Given the description of an element on the screen output the (x, y) to click on. 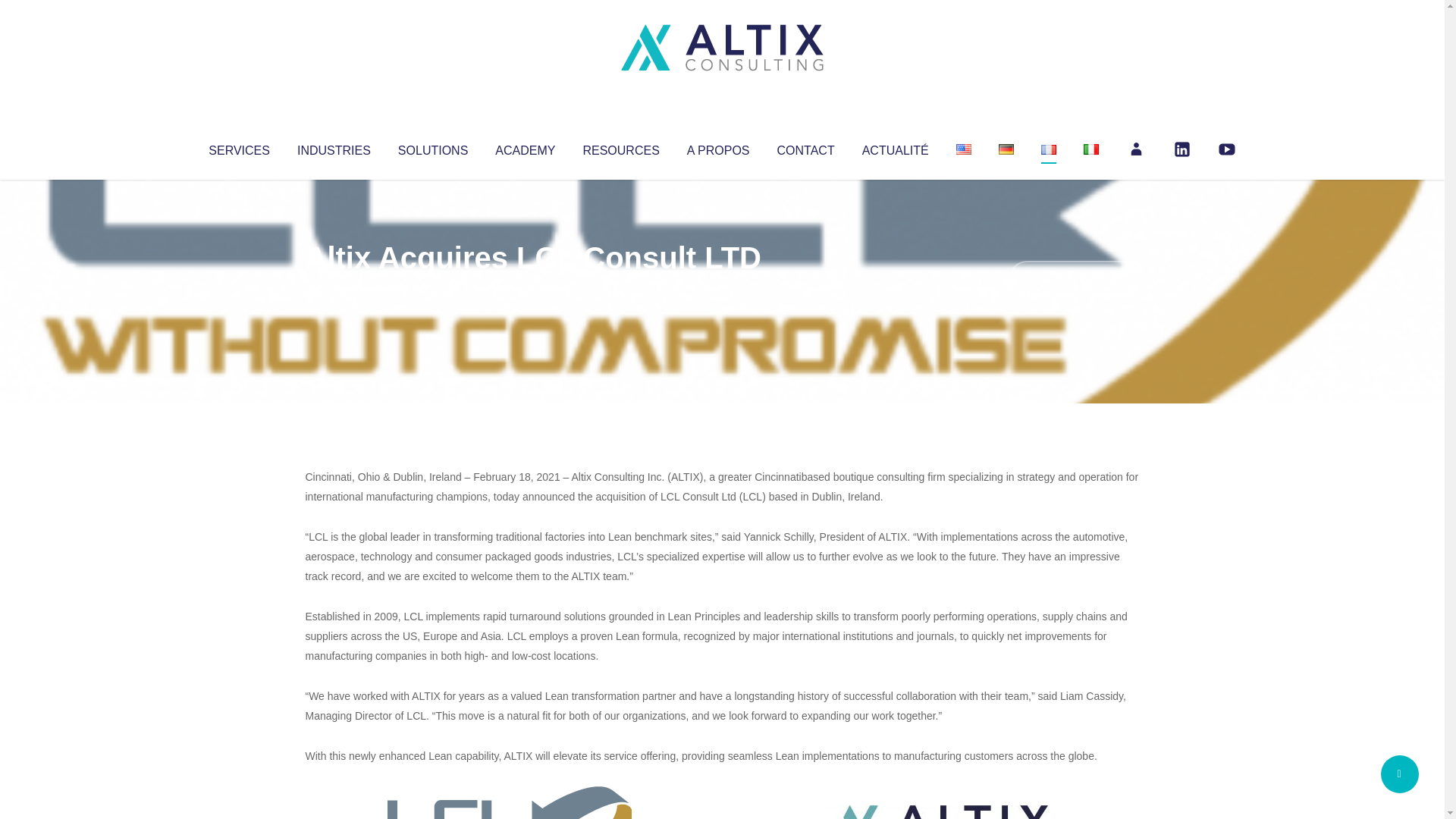
A PROPOS (718, 146)
Altix (333, 287)
SERVICES (238, 146)
SOLUTIONS (432, 146)
RESOURCES (620, 146)
Uncategorized (530, 287)
Articles par Altix (333, 287)
No Comments (1073, 278)
ACADEMY (524, 146)
INDUSTRIES (334, 146)
